Given the description of an element on the screen output the (x, y) to click on. 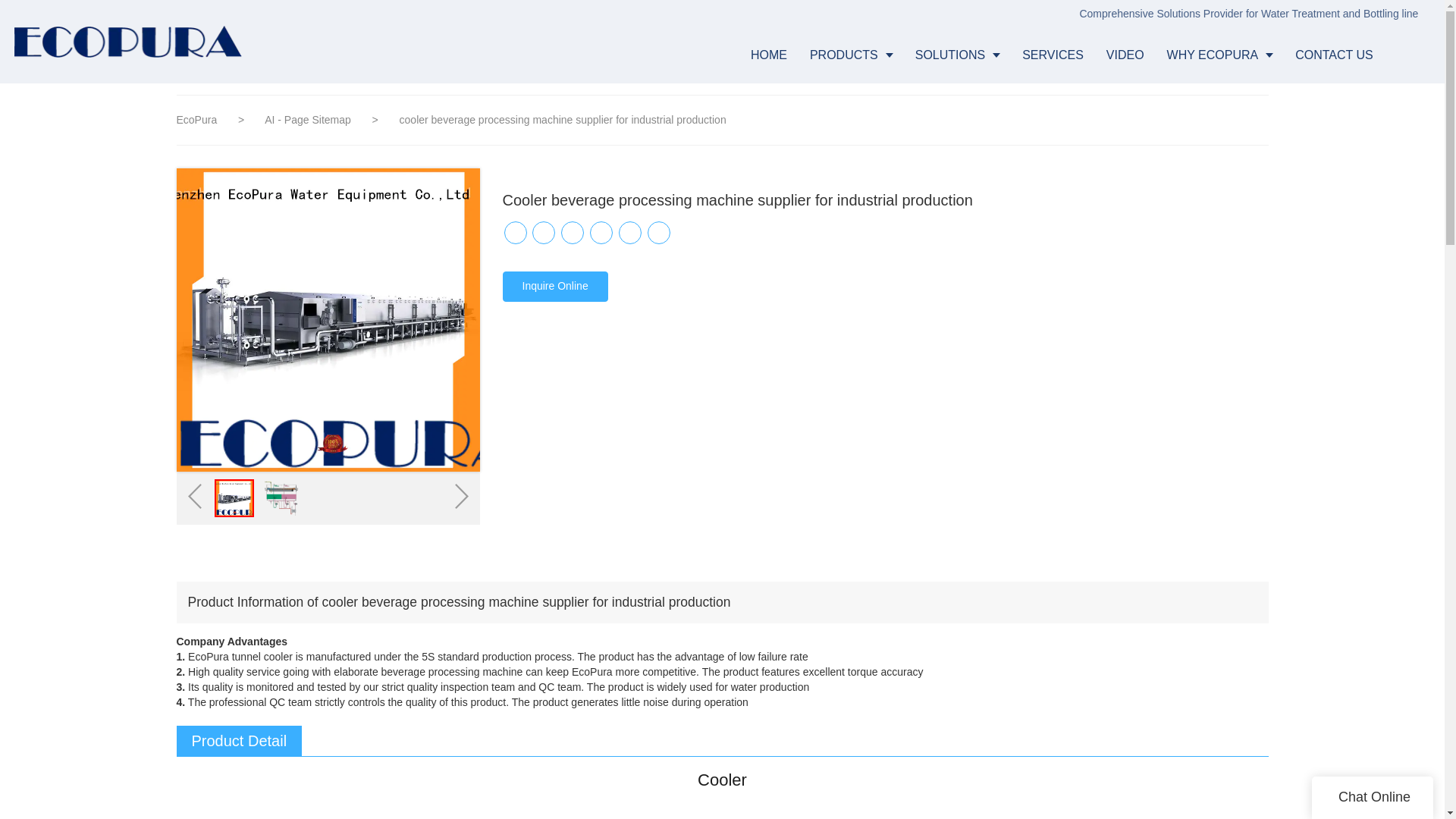
EcoPura (196, 119)
CONTACT US (1334, 55)
SERVICES (1052, 55)
SOLUTIONS (957, 55)
VIDEO (1125, 55)
AI - Page Sitemap (308, 119)
HOME (768, 55)
PRODUCTS (850, 55)
WHY ECOPURA (1220, 55)
